Given the description of an element on the screen output the (x, y) to click on. 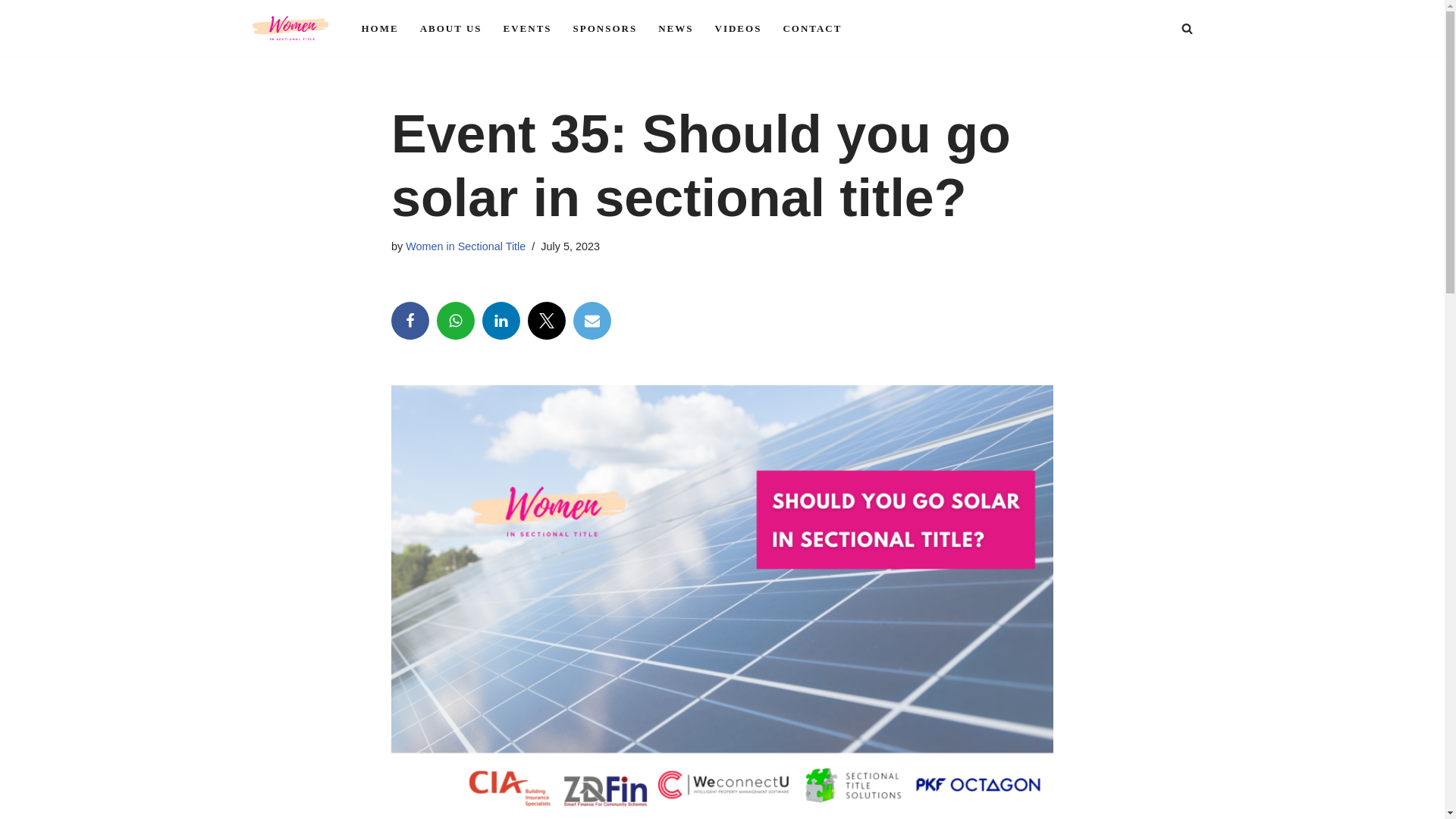
LinkedIn (500, 320)
SPONSORS (605, 27)
Email (592, 320)
NEWS (675, 27)
Twitter (546, 320)
Skip to content (11, 31)
HOME (379, 27)
VIDEOS (737, 27)
CONTACT (812, 27)
WhatsApp (455, 320)
Posts by Women in Sectional Title (465, 246)
Women in Sectional Title (465, 246)
Facebook (410, 320)
ABOUT US (450, 27)
EVENTS (527, 27)
